Given the description of an element on the screen output the (x, y) to click on. 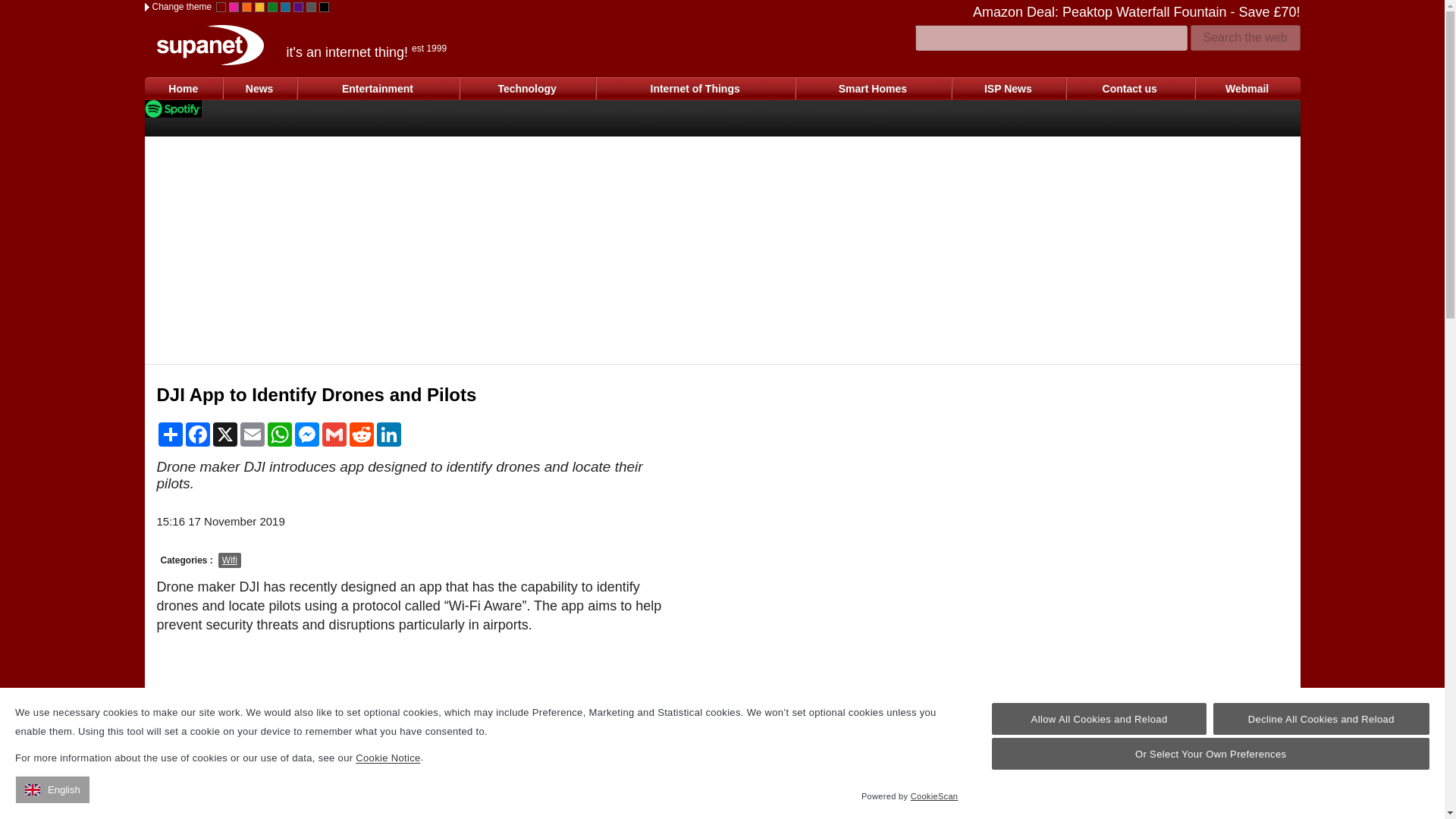
Search the web (1245, 37)
Entertainment (377, 88)
Search the web (1245, 37)
Smart Homes (872, 88)
Supanet (209, 45)
Webmail (1246, 88)
News (259, 88)
Internet of Things (694, 88)
Technology (526, 88)
